Given the description of an element on the screen output the (x, y) to click on. 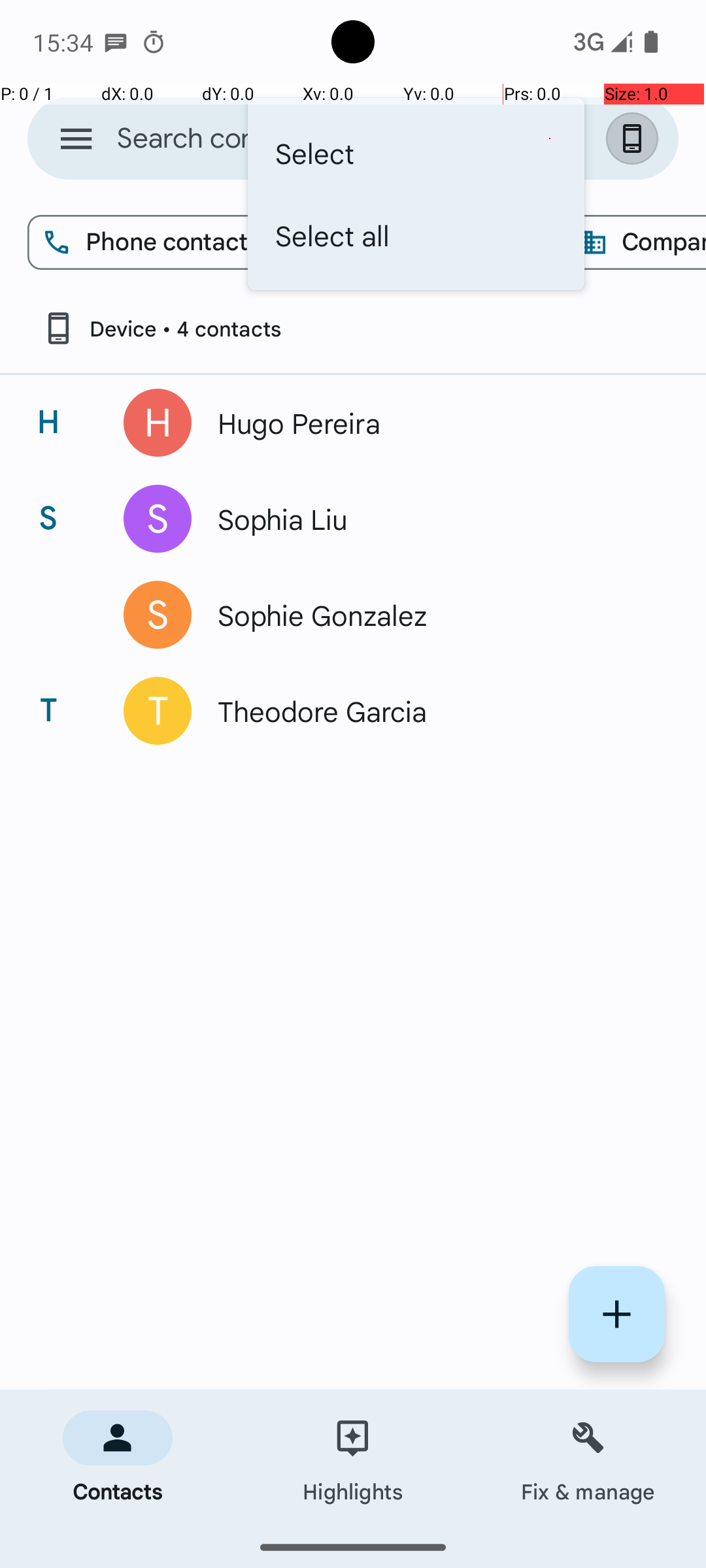
Select all Element type: android.widget.TextView (415, 234)
SMS Messenger notification: Sophie Gonzalez Element type: android.widget.ImageView (115, 41)
